Given the description of an element on the screen output the (x, y) to click on. 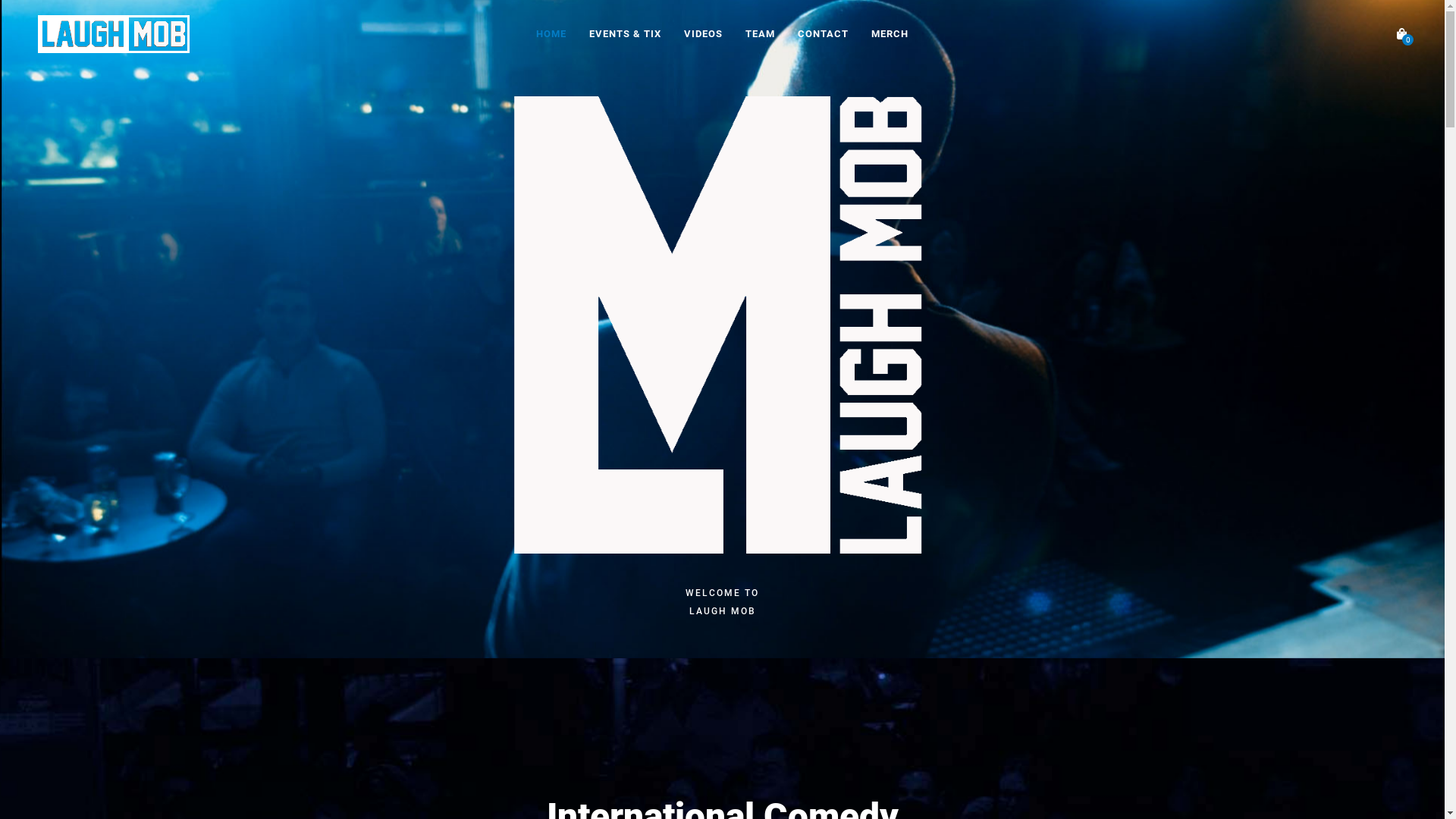
HOME Element type: text (550, 33)
0 Element type: text (1401, 33)
CONTACT Element type: text (822, 33)
TEAM Element type: text (760, 33)
MERCH Element type: text (889, 33)
VIDEOS Element type: text (703, 33)
EVENTS & TIX Element type: text (624, 33)
